Given the description of an element on the screen output the (x, y) to click on. 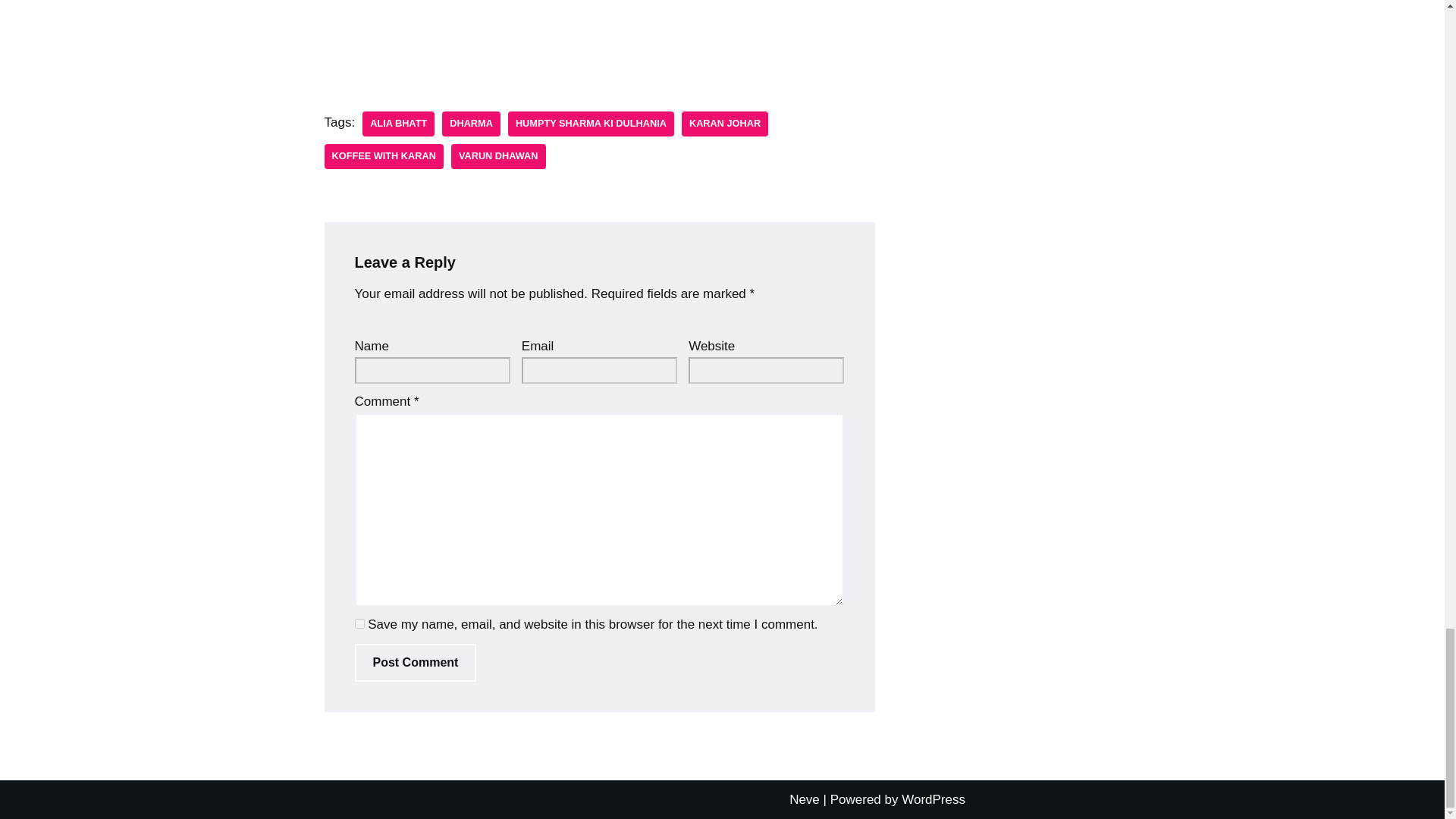
KOFFEE WITH KARAN (384, 156)
VARUN DHAWAN (498, 156)
Karan Johar (724, 123)
Koffee with Karan (384, 156)
DHARMA (471, 123)
yes (360, 623)
Varun Dhawan (498, 156)
Post Comment (416, 662)
Humpty Sharma Ki Dulhania (591, 123)
HUMPTY SHARMA KI DULHANIA (591, 123)
